Given the description of an element on the screen output the (x, y) to click on. 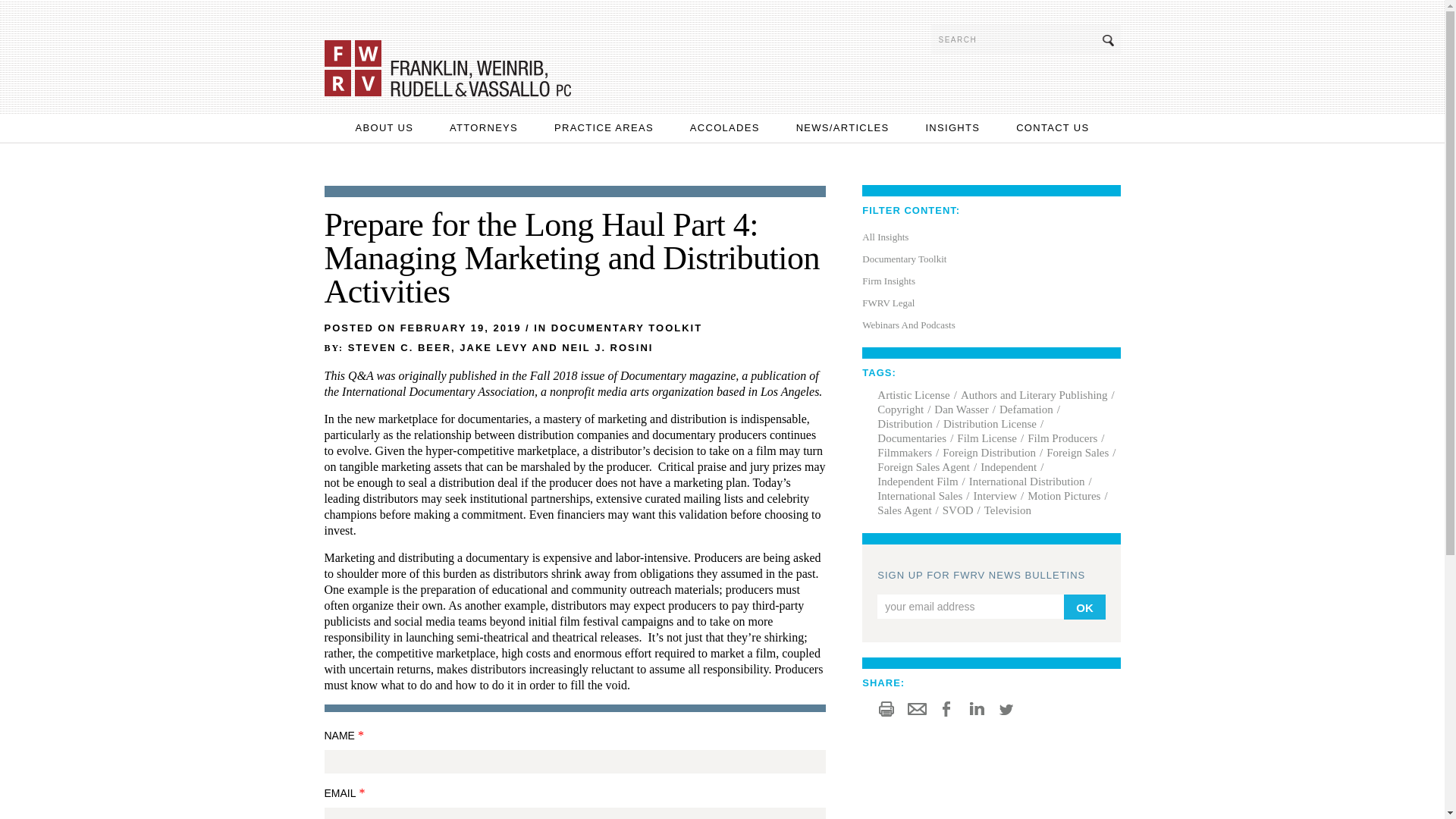
CONTACT US (1052, 127)
ATTORNEYS (483, 127)
PRACTICE AREAS (603, 127)
INSIGHTS (951, 127)
ABOUT US (384, 127)
ACCOLADES (725, 127)
